Given the description of an element on the screen output the (x, y) to click on. 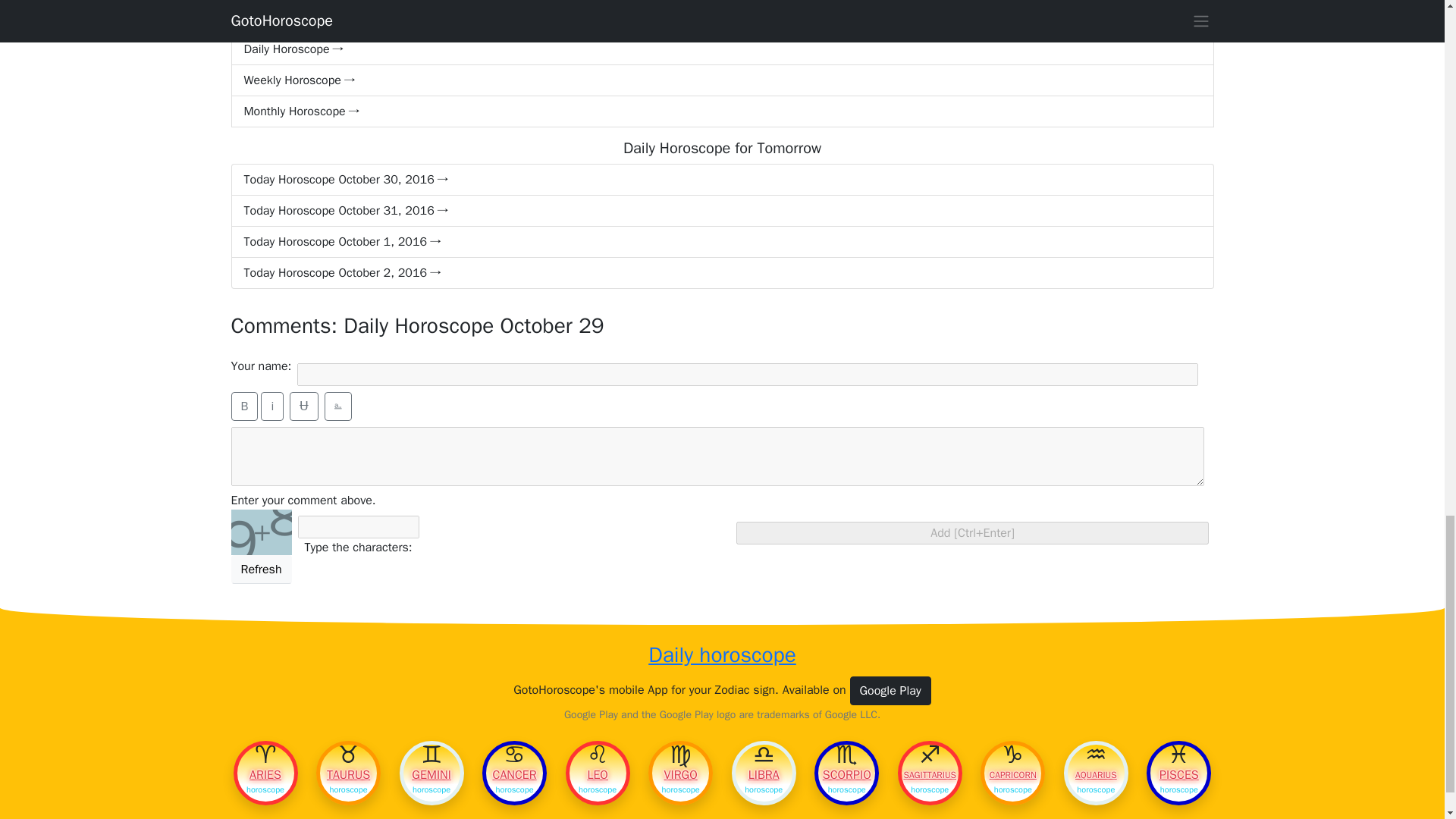
Today Horoscope October 31, 2016 (721, 210)
Weekly Horoscope (721, 80)
Refresh (260, 569)
i (271, 406)
Today Horoscope October 30, 2016 (721, 179)
B (243, 406)
Today Horoscope October 2, 2016 (721, 273)
Today Horoscope October 1, 2016 (721, 241)
Monthly Horoscope (721, 111)
Daily Horoscope (721, 49)
